Given the description of an element on the screen output the (x, y) to click on. 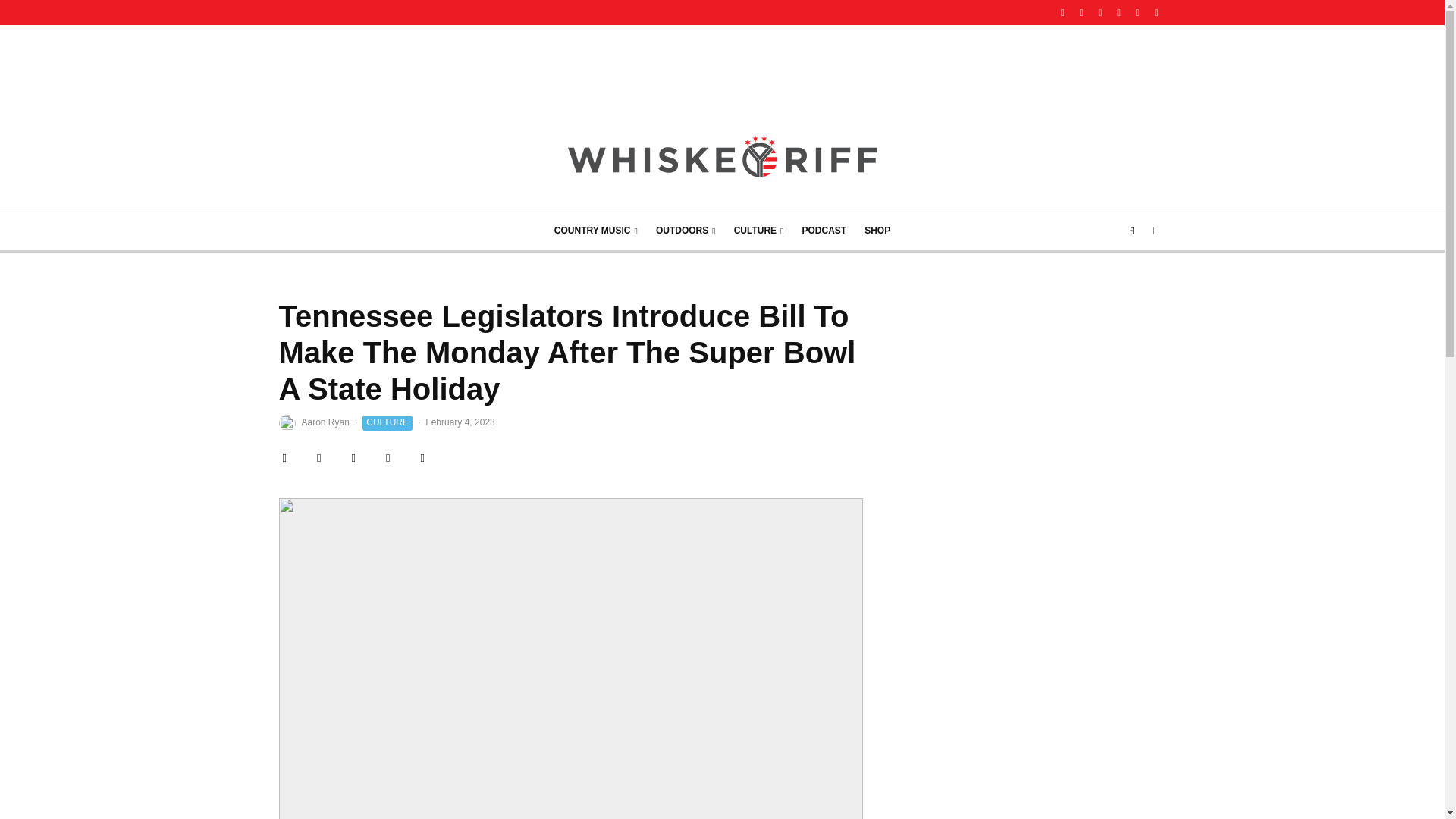
OUTDOORS (685, 231)
COUNTRY MUSIC (595, 231)
CULTURE (759, 231)
